Given the description of an element on the screen output the (x, y) to click on. 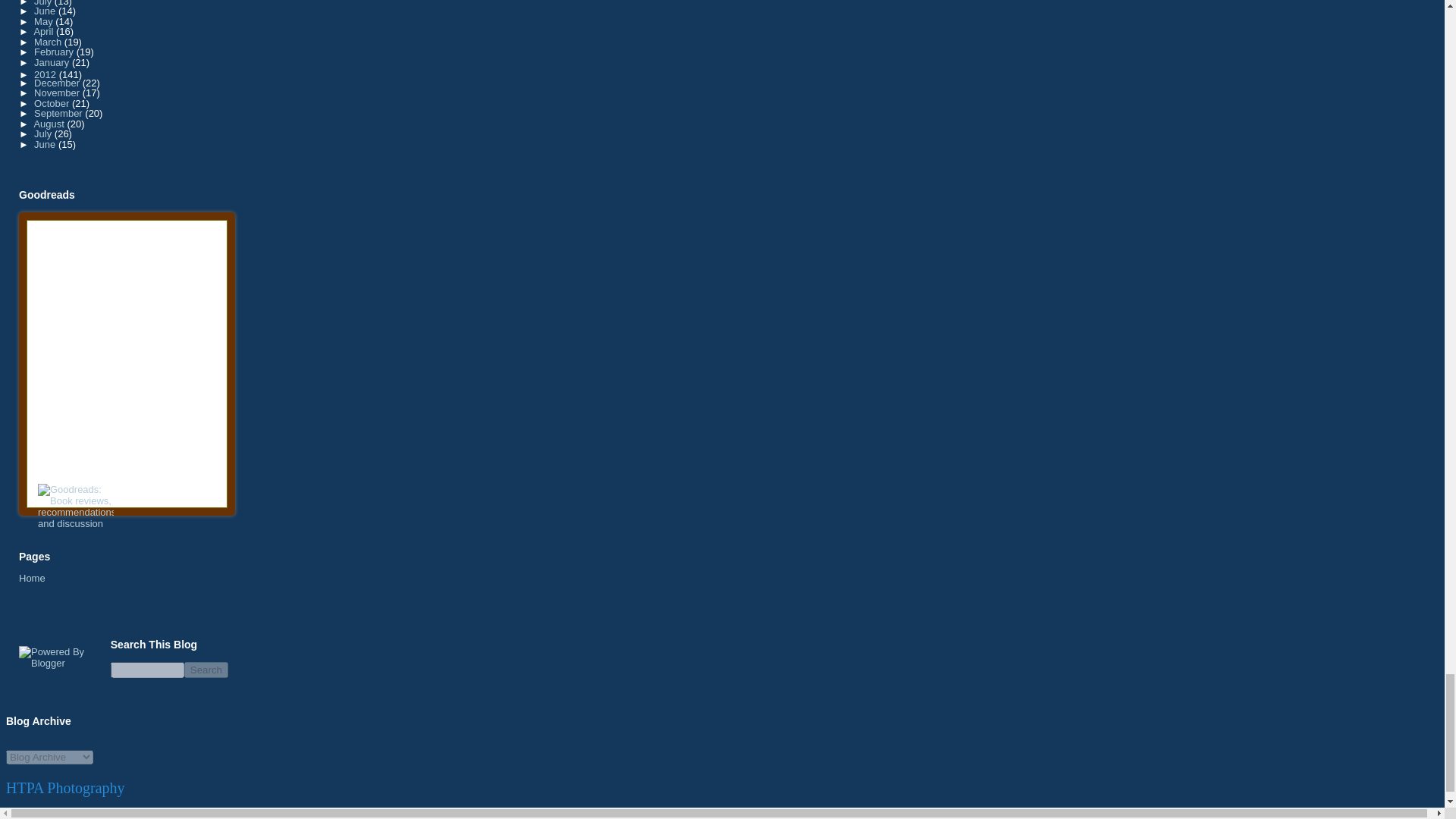
Search (206, 669)
search (206, 669)
Search (206, 669)
search (147, 669)
